Given the description of an element on the screen output the (x, y) to click on. 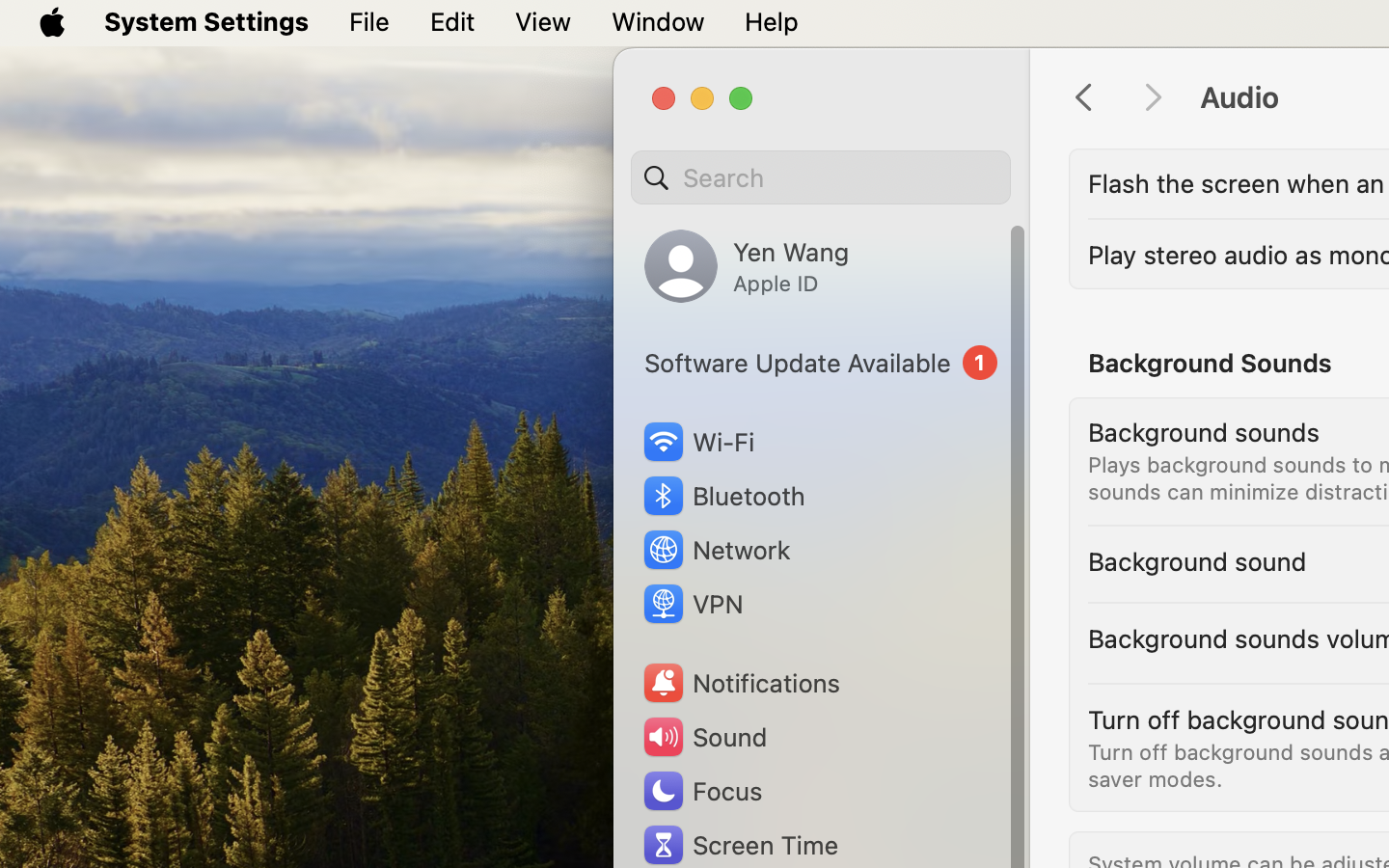
1 Element type: AXStaticText (820, 362)
Sound Element type: AXStaticText (703, 736)
Yen Wang, Apple ID Element type: AXStaticText (746, 265)
Bluetooth Element type: AXStaticText (723, 495)
Focus Element type: AXStaticText (701, 790)
